Given the description of an element on the screen output the (x, y) to click on. 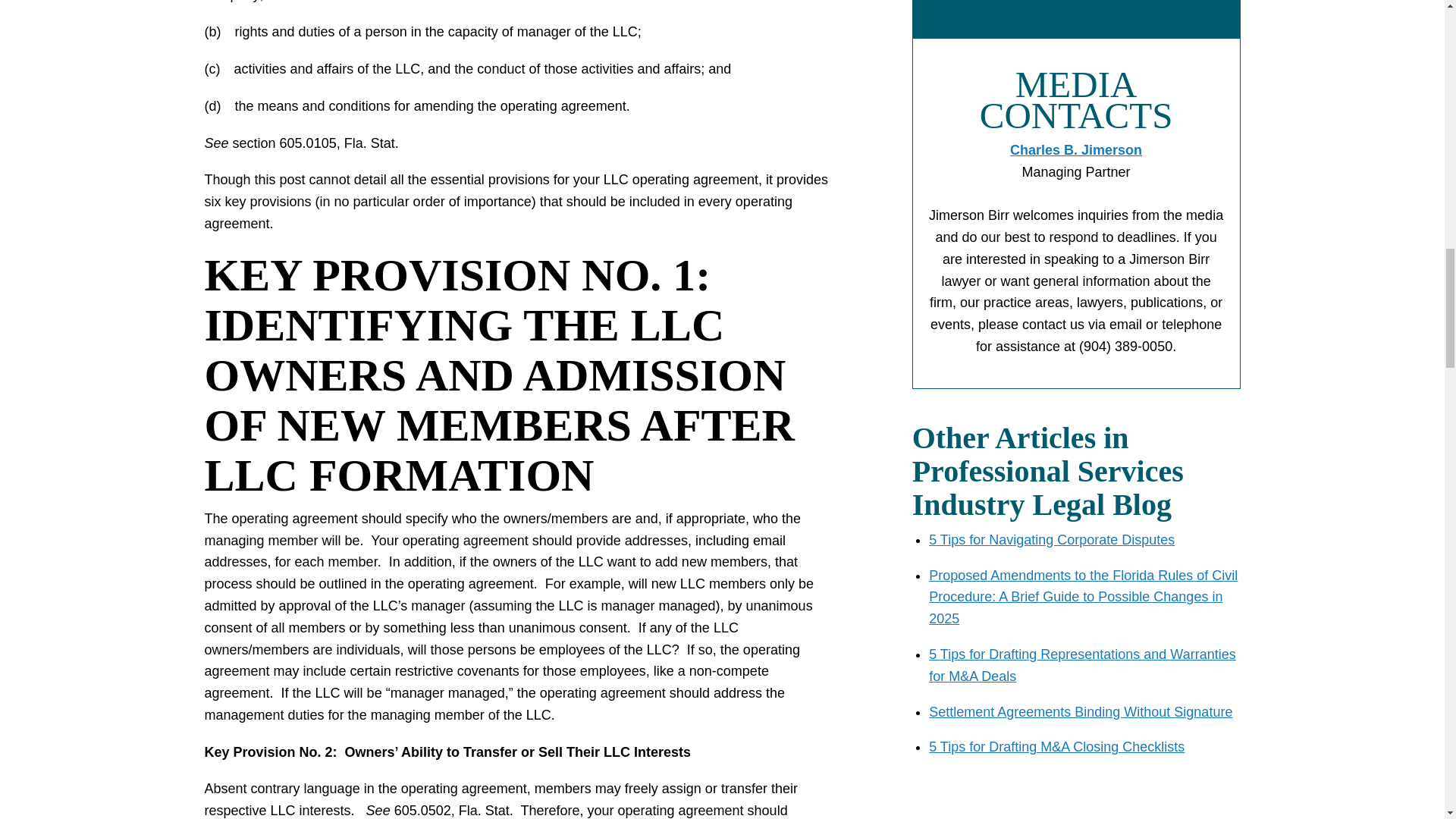
5 Tips for Navigating Corporate Disputes (1051, 539)
Settlement Agreements Binding Without Signature (1079, 711)
